Given the description of an element on the screen output the (x, y) to click on. 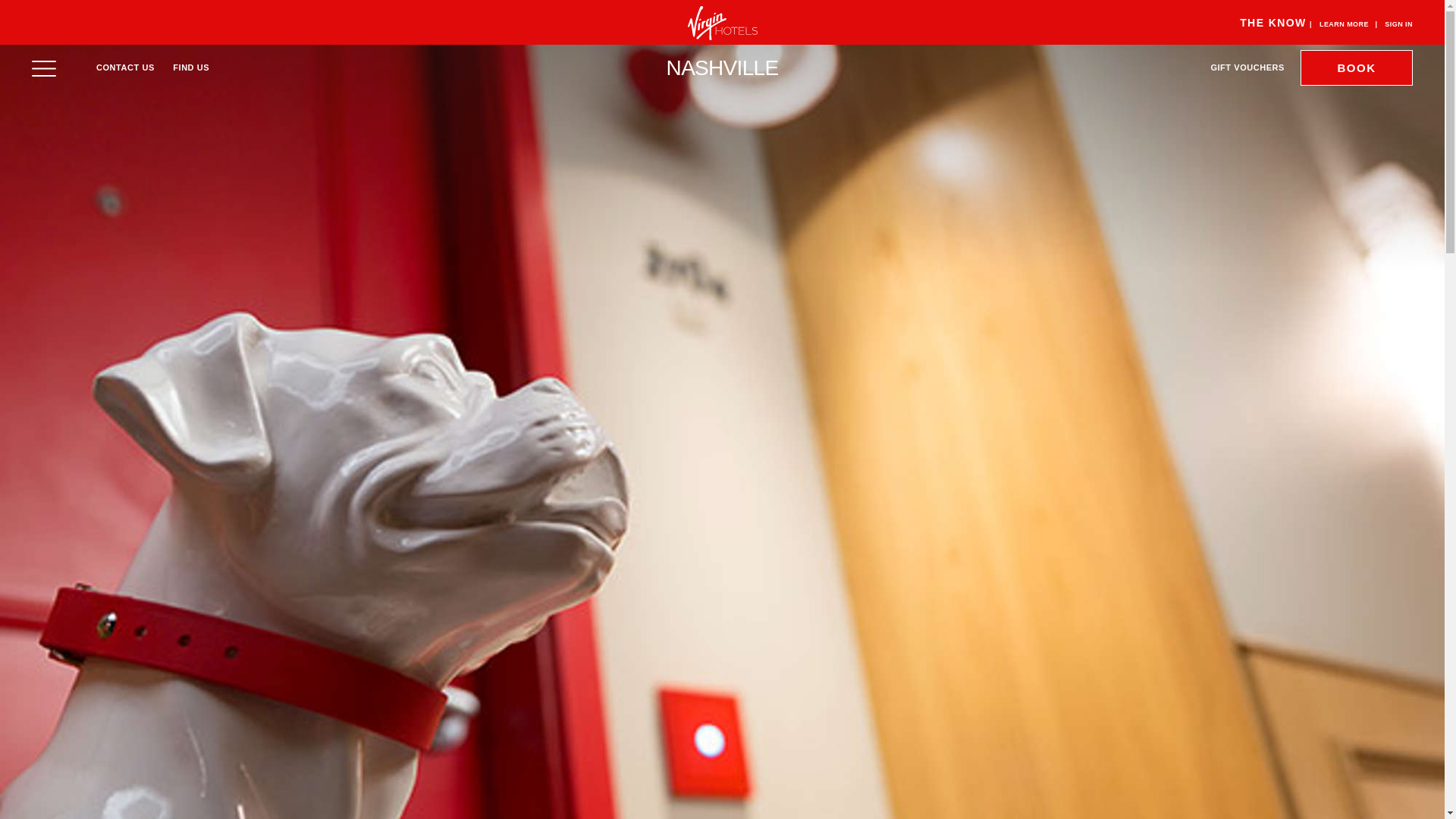
FIND US (191, 67)
LEARN MORE (1343, 23)
CONTACT US (125, 67)
SIGN IN (1398, 23)
NASHVILLE (722, 67)
GIFT VOUCHERS (1246, 67)
